Given the description of an element on the screen output the (x, y) to click on. 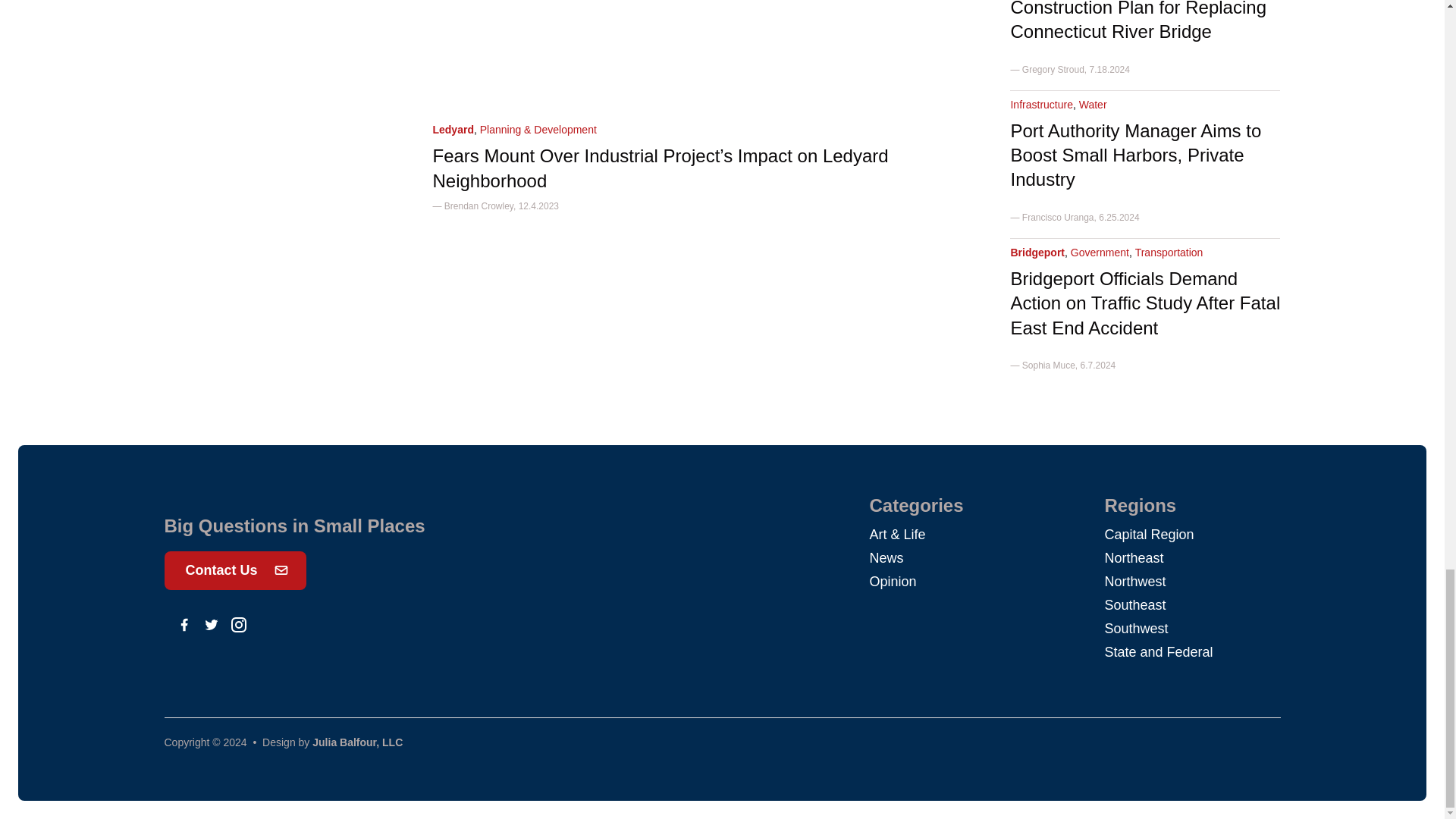
twitter (210, 624)
facebook (183, 624)
instagram (238, 624)
